Given the description of an element on the screen output the (x, y) to click on. 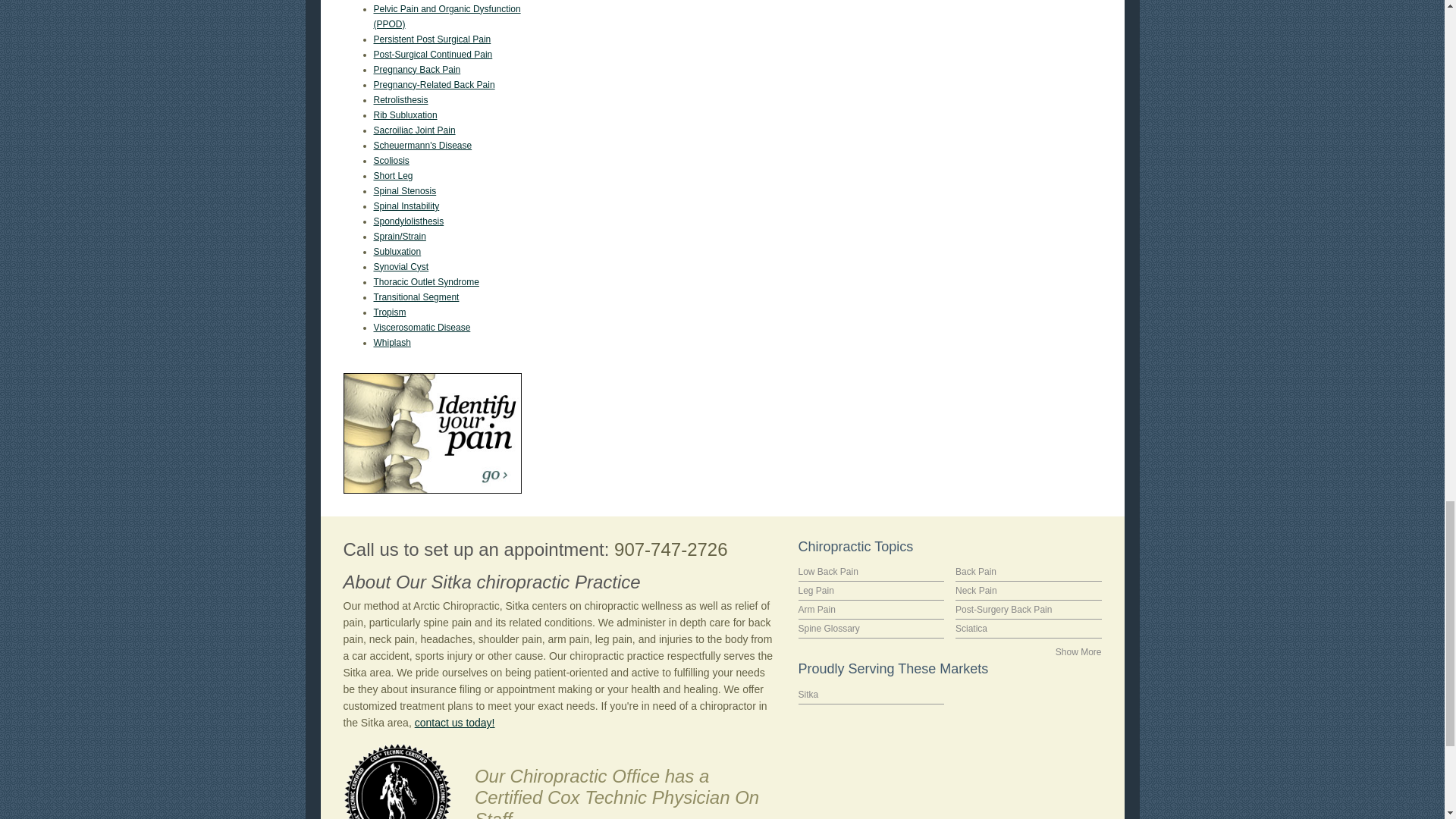
id-your-pain.jpg (431, 433)
